Given the description of an element on the screen output the (x, y) to click on. 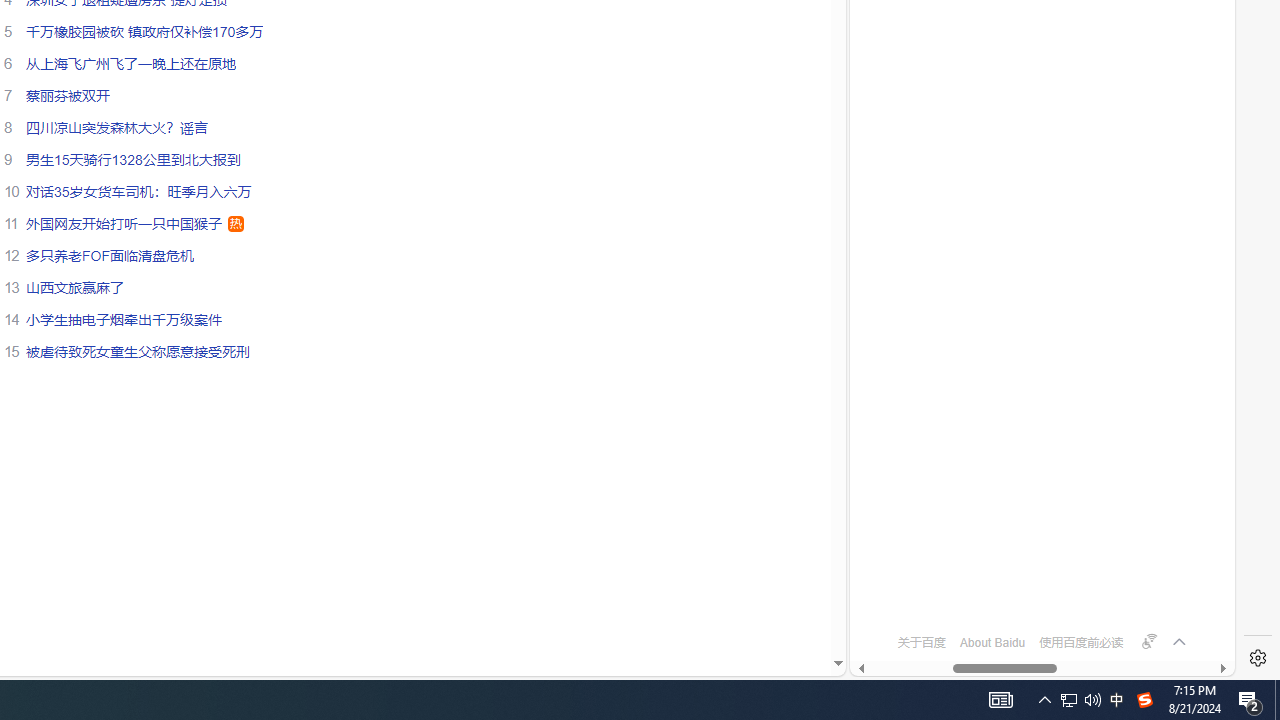
Actions for this site (1149, 184)
Global web icon (888, 587)
OFTV - Enjoy videos from your favorite OF creators! (1034, 604)
